Given the description of an element on the screen output the (x, y) to click on. 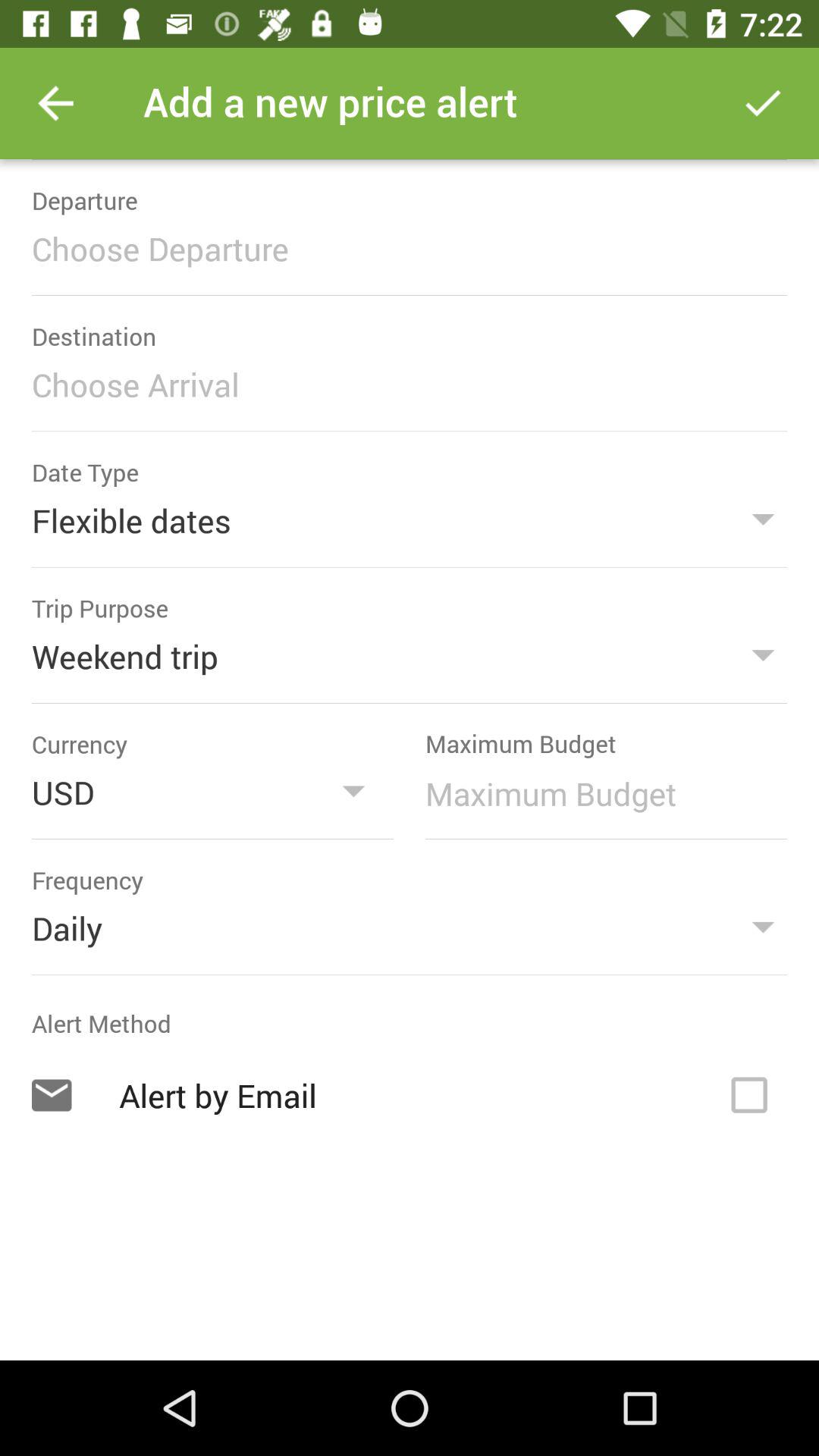
turn on the item at the top left corner (55, 103)
